Given the description of an element on the screen output the (x, y) to click on. 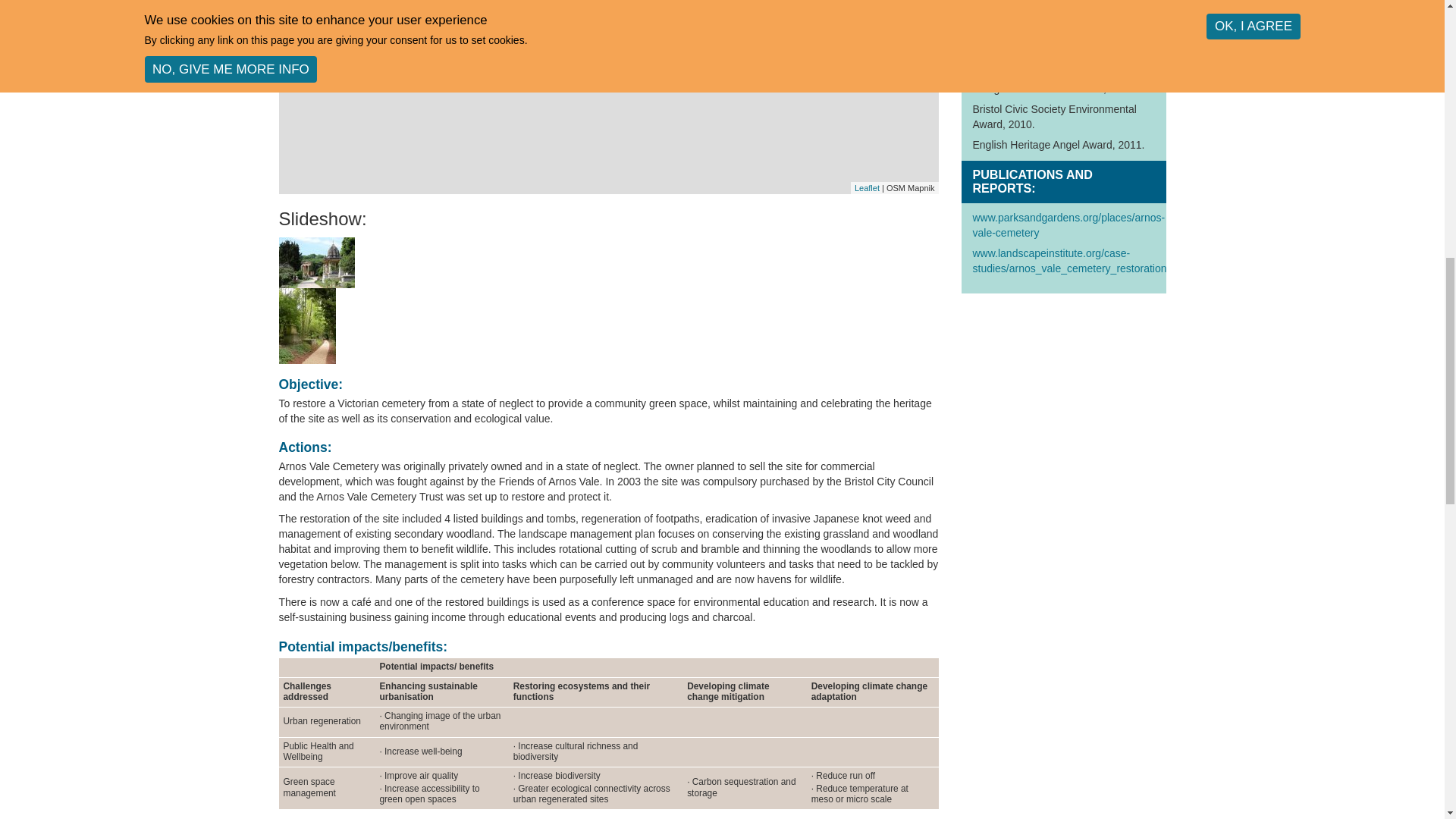
New footpaths - credit to Bristol City Council (609, 325)
The Ceremonial Way - credit to Bristol City Council (609, 262)
A JS library for interactive maps (866, 187)
Leaflet (866, 187)
